Given the description of an element on the screen output the (x, y) to click on. 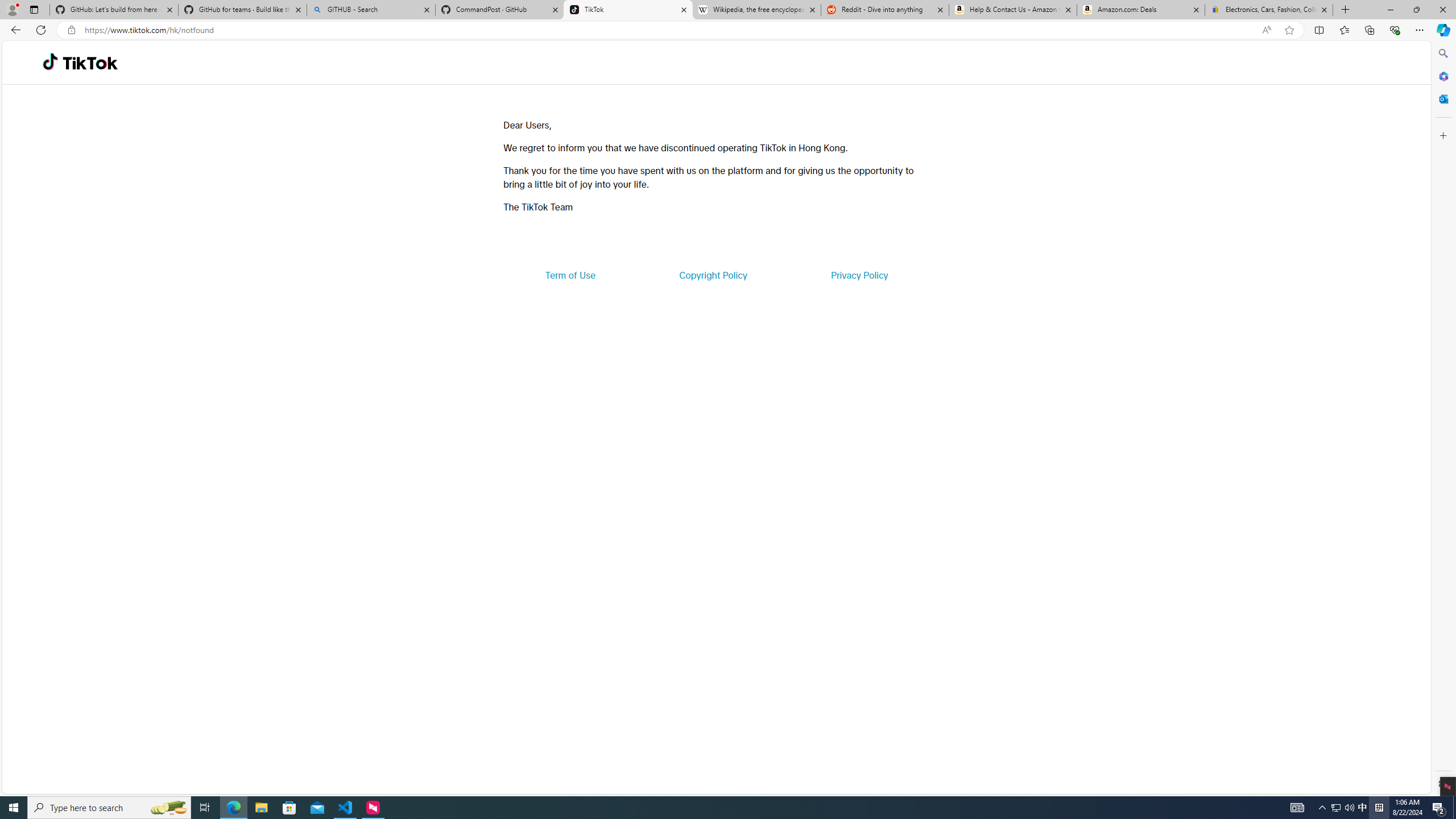
Close Outlook pane (1442, 98)
Wikipedia, the free encyclopedia (756, 9)
Read aloud this page (Ctrl+Shift+U) (1266, 29)
Help & Contact Us - Amazon Customer Service (1012, 9)
Electronics, Cars, Fashion, Collectibles & More | eBay (1268, 9)
Add this page to favorites (Ctrl+D) (1289, 29)
View site information (70, 29)
Amazon.com: Deals (1140, 9)
TikTok (89, 62)
New Tab (1346, 9)
